Given the description of an element on the screen output the (x, y) to click on. 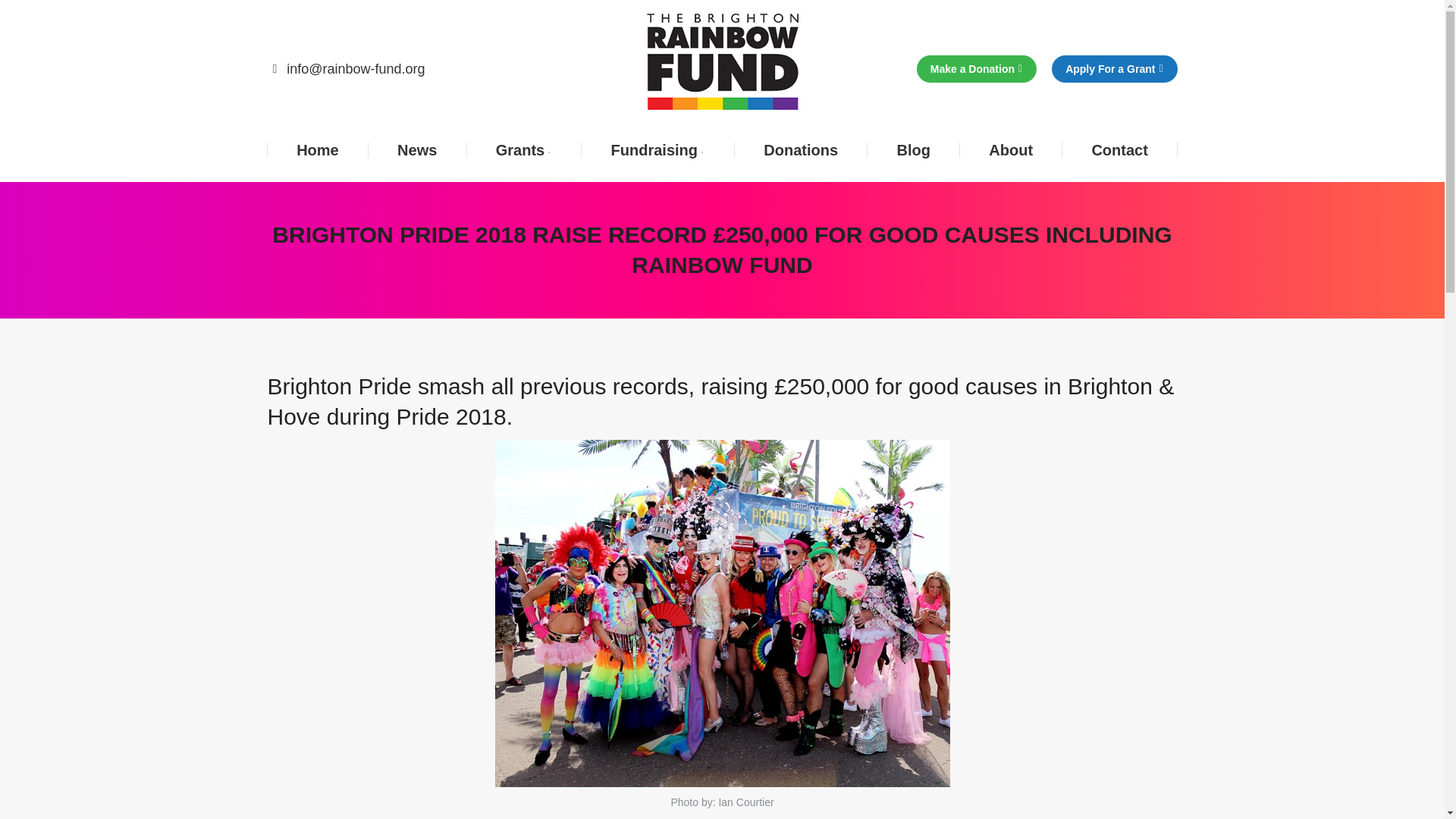
Grants (523, 149)
Home (316, 149)
News (416, 149)
Make a Donation (976, 67)
Contact (1120, 149)
Apply For a Grant (1113, 67)
Blog (913, 149)
Fundraising (658, 149)
Donations (801, 149)
About (1010, 149)
